Given the description of an element on the screen output the (x, y) to click on. 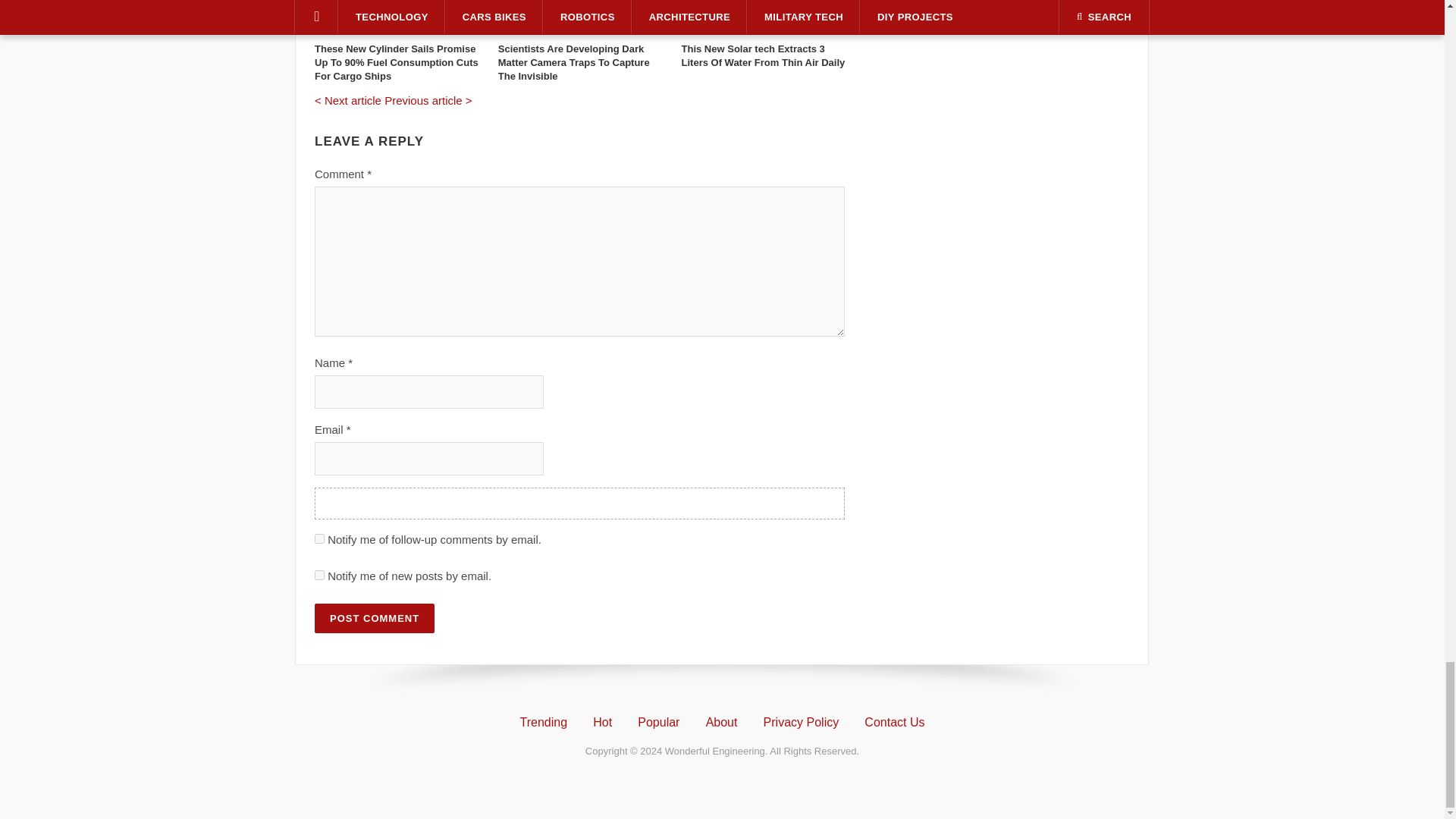
subscribe (319, 574)
Post Comment (373, 618)
subscribe (319, 538)
